Given the description of an element on the screen output the (x, y) to click on. 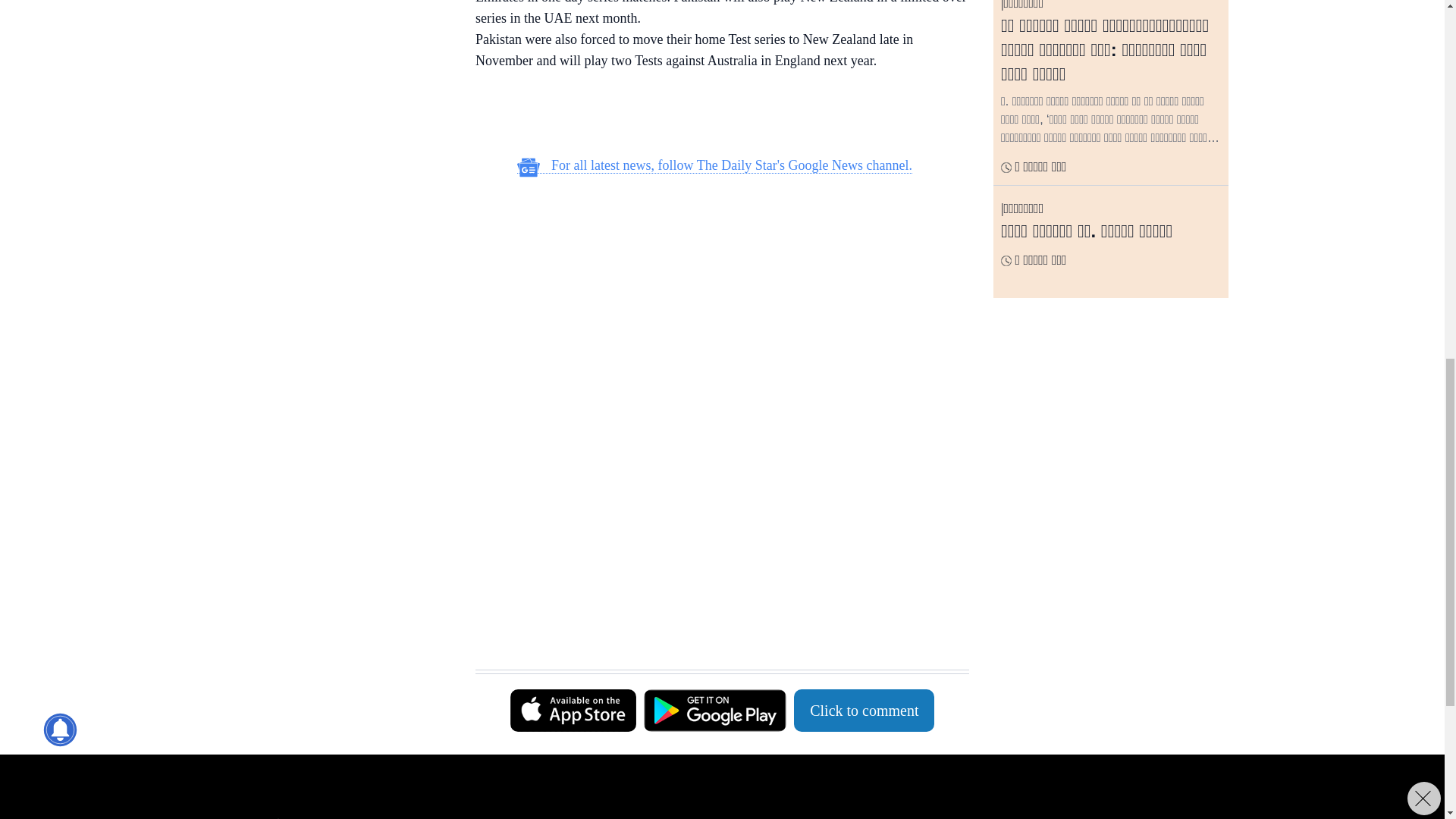
3rd party ad content (713, 491)
3rd party ad content (714, 115)
3rd party ad content (714, 631)
3rd party ad content (713, 286)
3rd party ad content (332, 5)
3rd party ad content (332, 121)
